Given the description of an element on the screen output the (x, y) to click on. 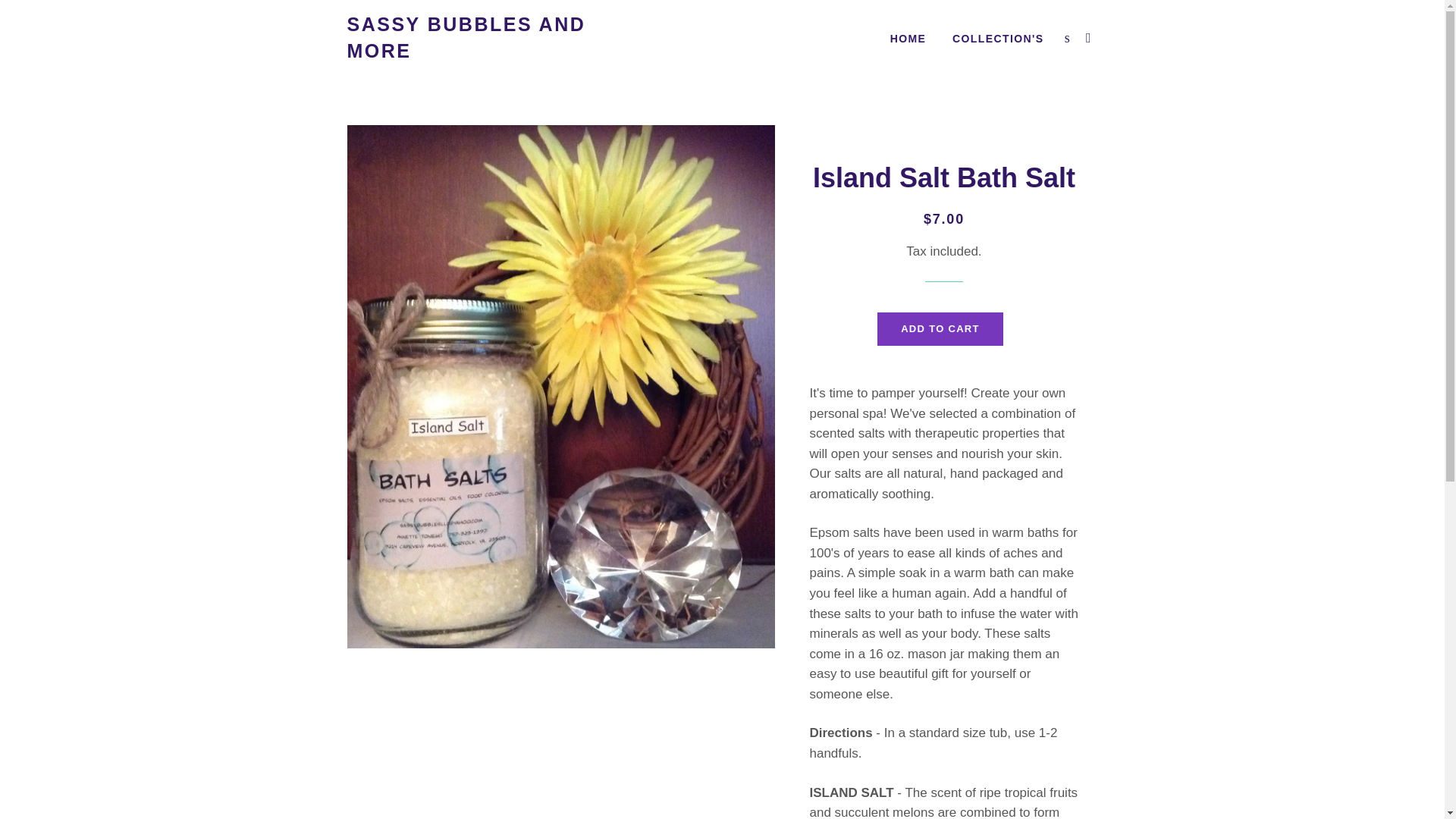
HOME (908, 38)
ADD TO CART (940, 328)
SASSY BUBBLES AND MORE (471, 37)
COLLECTION'S (997, 38)
